Given the description of an element on the screen output the (x, y) to click on. 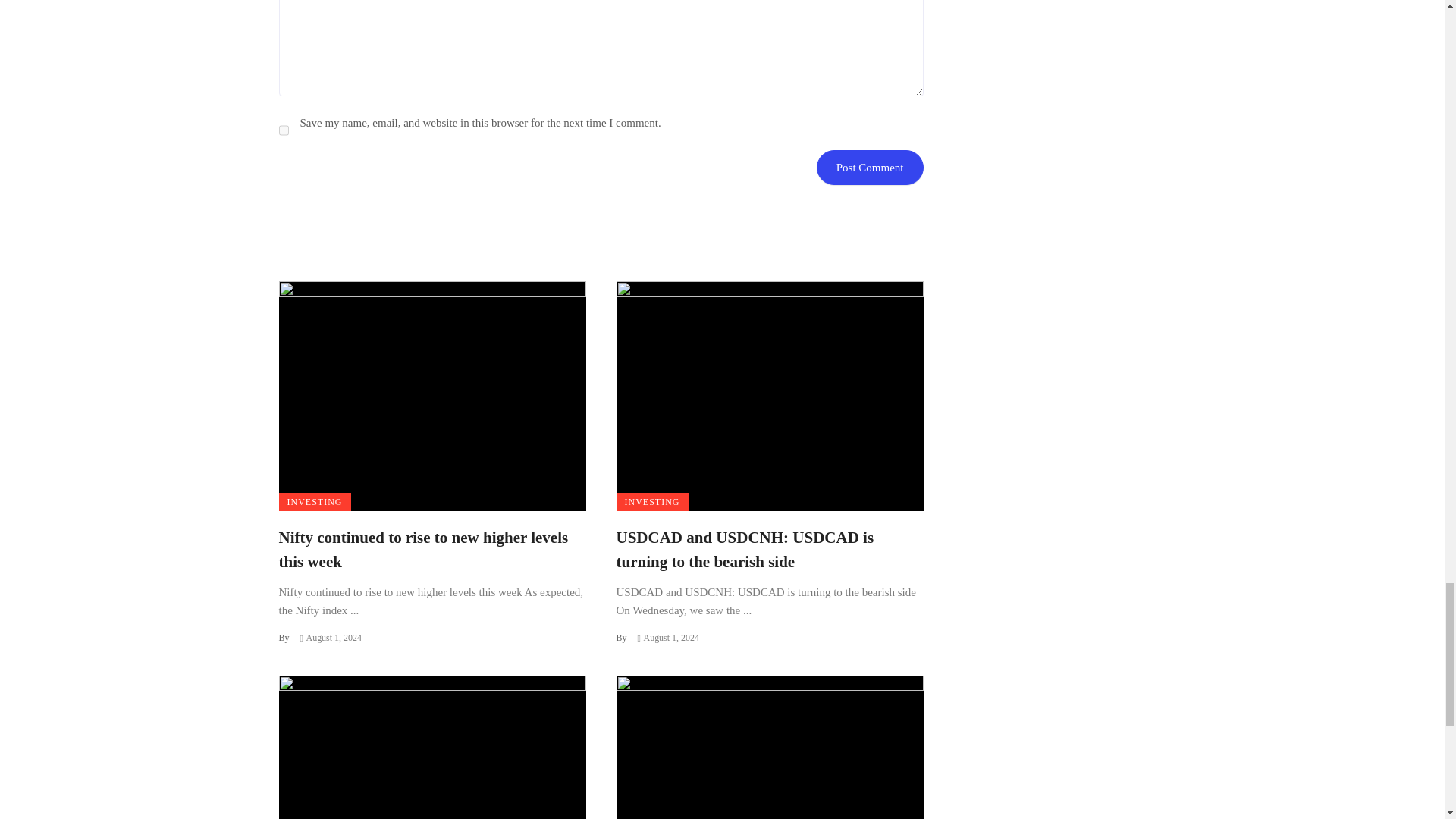
Post Comment (869, 167)
